Given the description of an element on the screen output the (x, y) to click on. 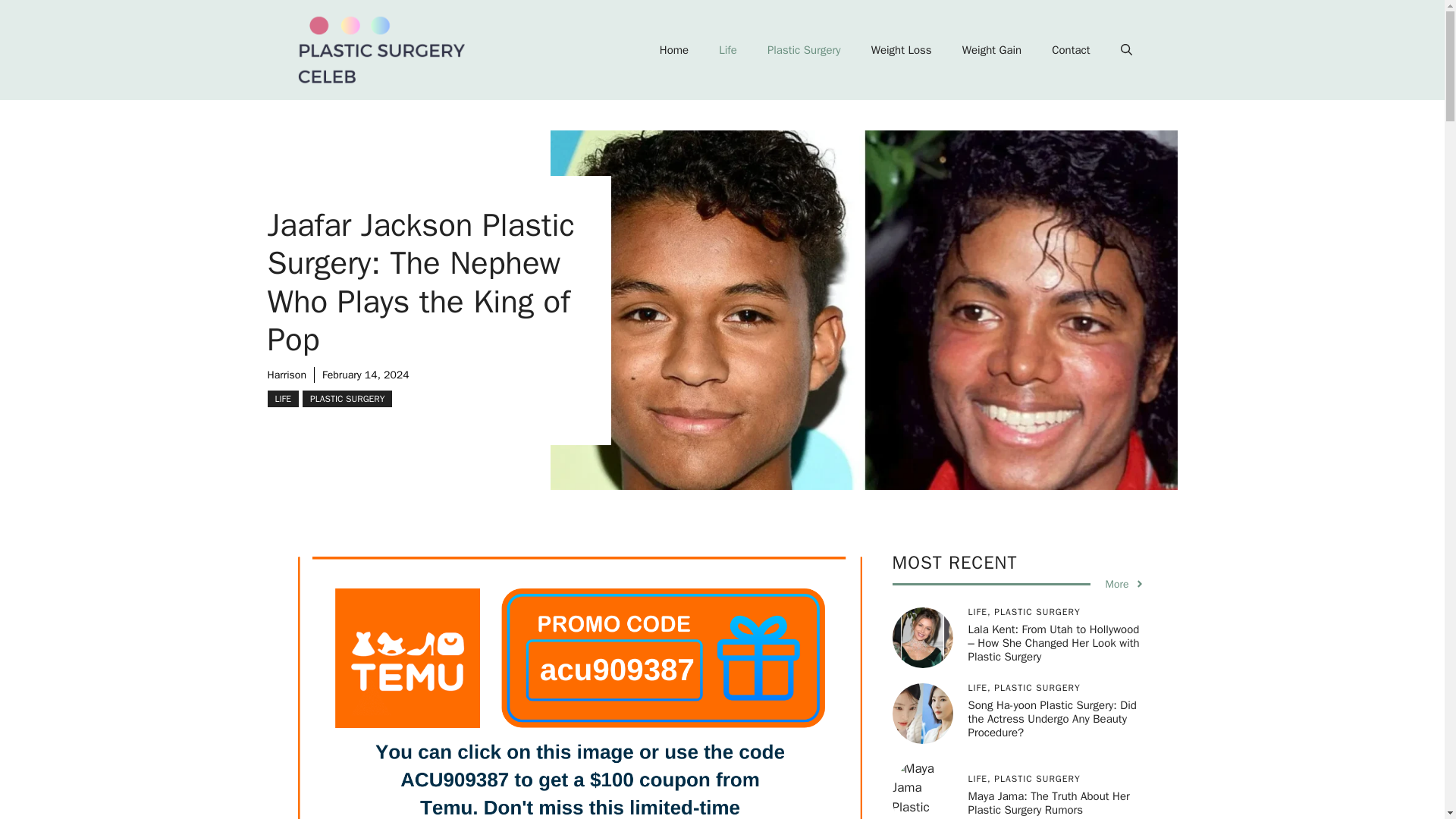
Life (727, 49)
Contact (1070, 49)
Weight Gain (991, 49)
PLASTIC SURGERY (346, 398)
Weight Loss (901, 49)
LIFE (282, 398)
Maya Jama: The Truth About Her Plastic Surgery Rumors (1048, 802)
Harrison (285, 374)
Home (674, 49)
